Given the description of an element on the screen output the (x, y) to click on. 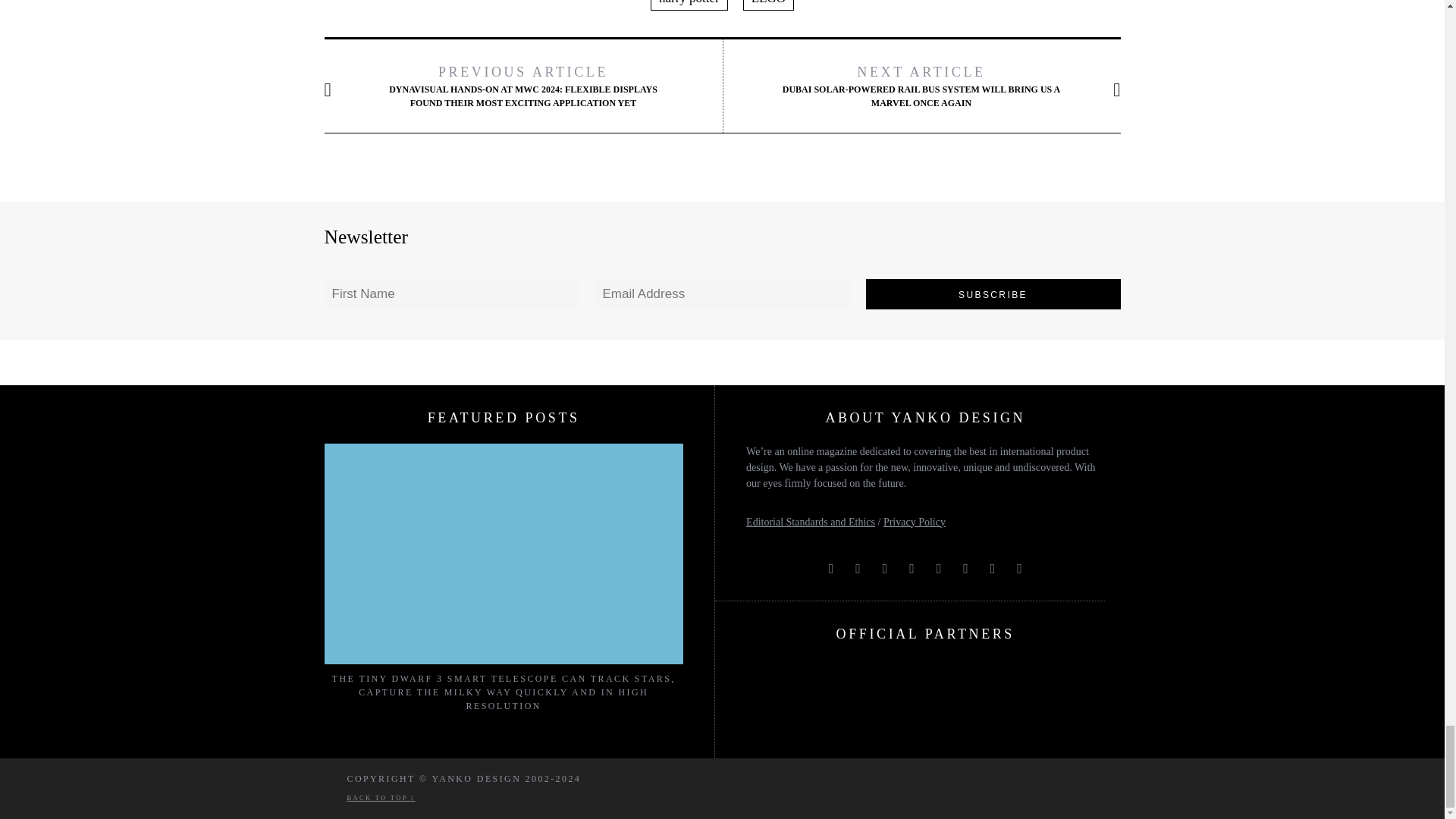
Privacy Policy (913, 521)
Subscribe (993, 294)
Editorial Standards and Ethics (810, 521)
